Given the description of an element on the screen output the (x, y) to click on. 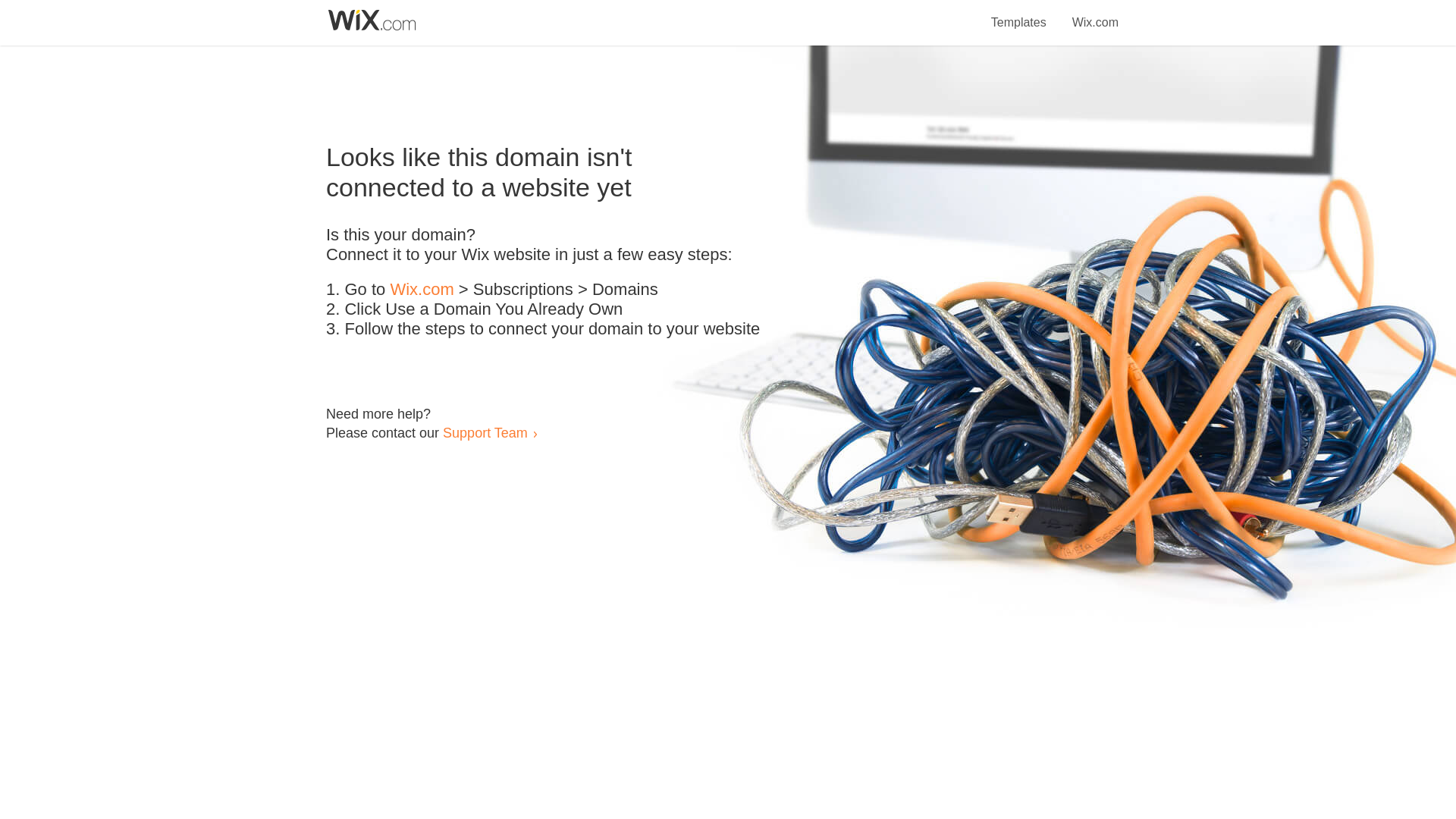
Wix.com (421, 289)
Support Team (484, 432)
Wix.com (1095, 14)
Templates (1018, 14)
